Given the description of an element on the screen output the (x, y) to click on. 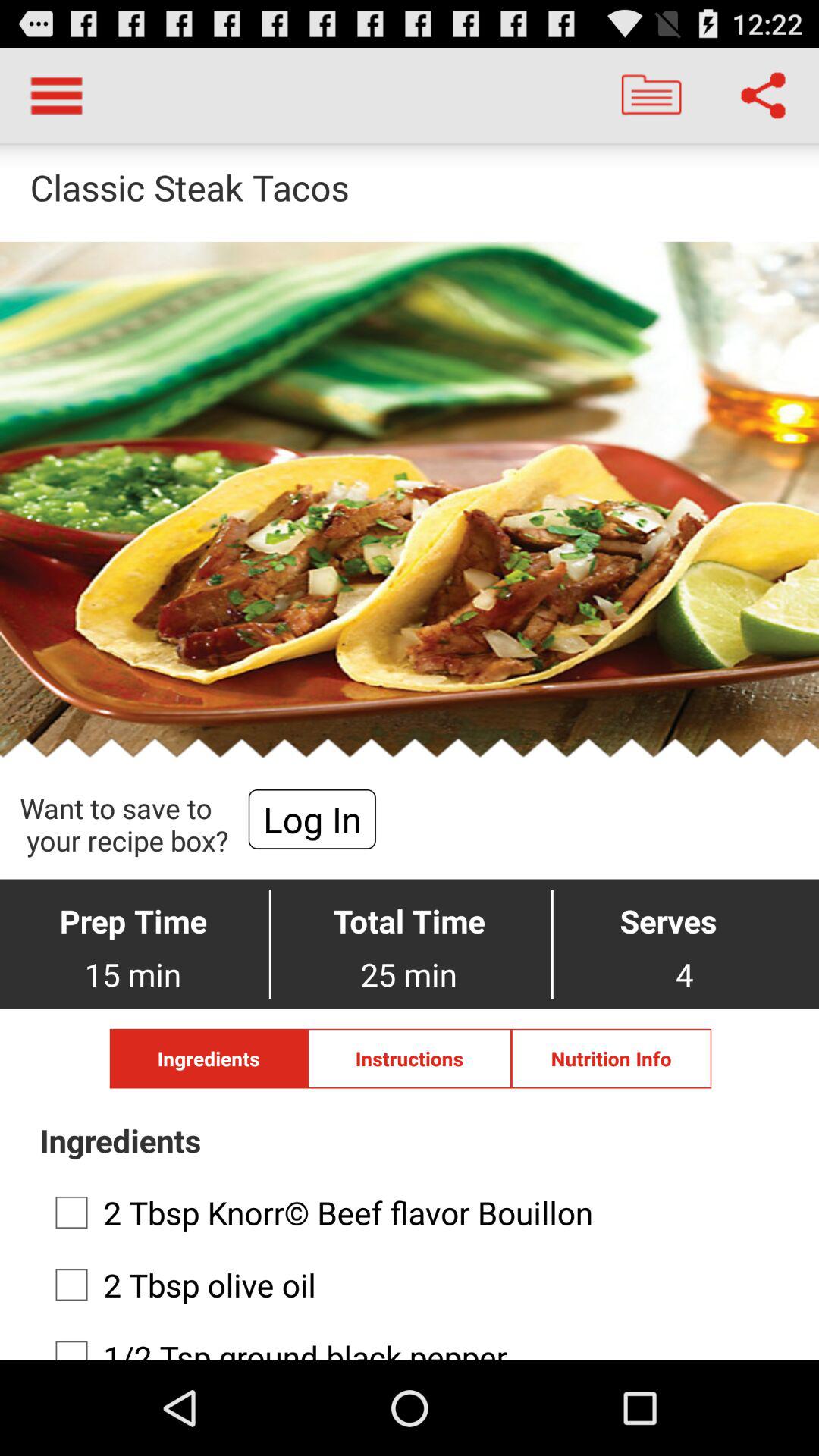
swipe until the instructions button (409, 1058)
